Given the description of an element on the screen output the (x, y) to click on. 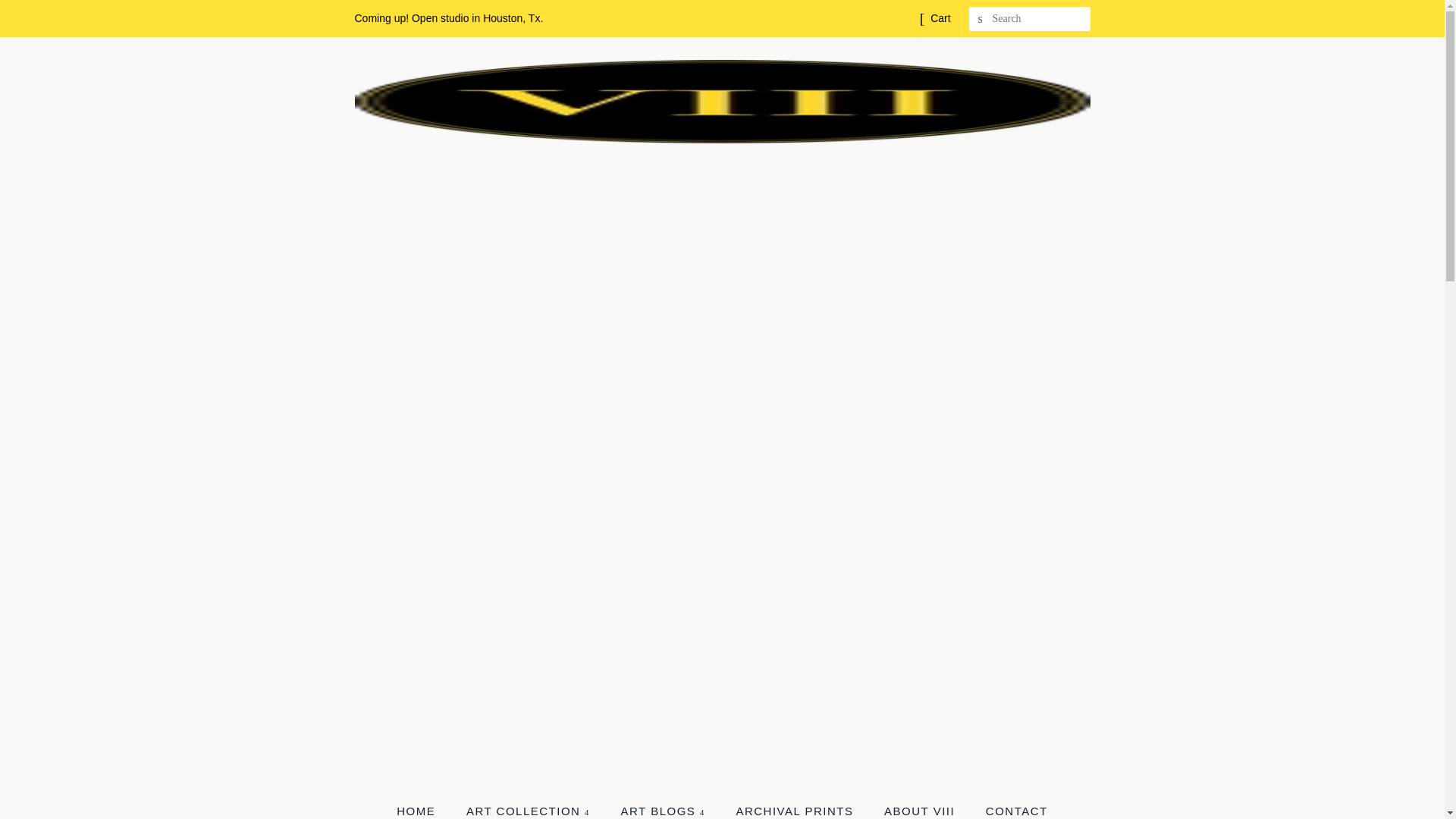
ABOUT VIII (920, 807)
ARCHIVAL PRINTS (795, 807)
CONTACT (1011, 807)
ART BLOGS (665, 807)
ART COLLECTION (529, 807)
HOME (422, 807)
Coming up! Open studio in Houston, Tx. (449, 18)
SEARCH (980, 18)
Cart (940, 18)
